Given the description of an element on the screen output the (x, y) to click on. 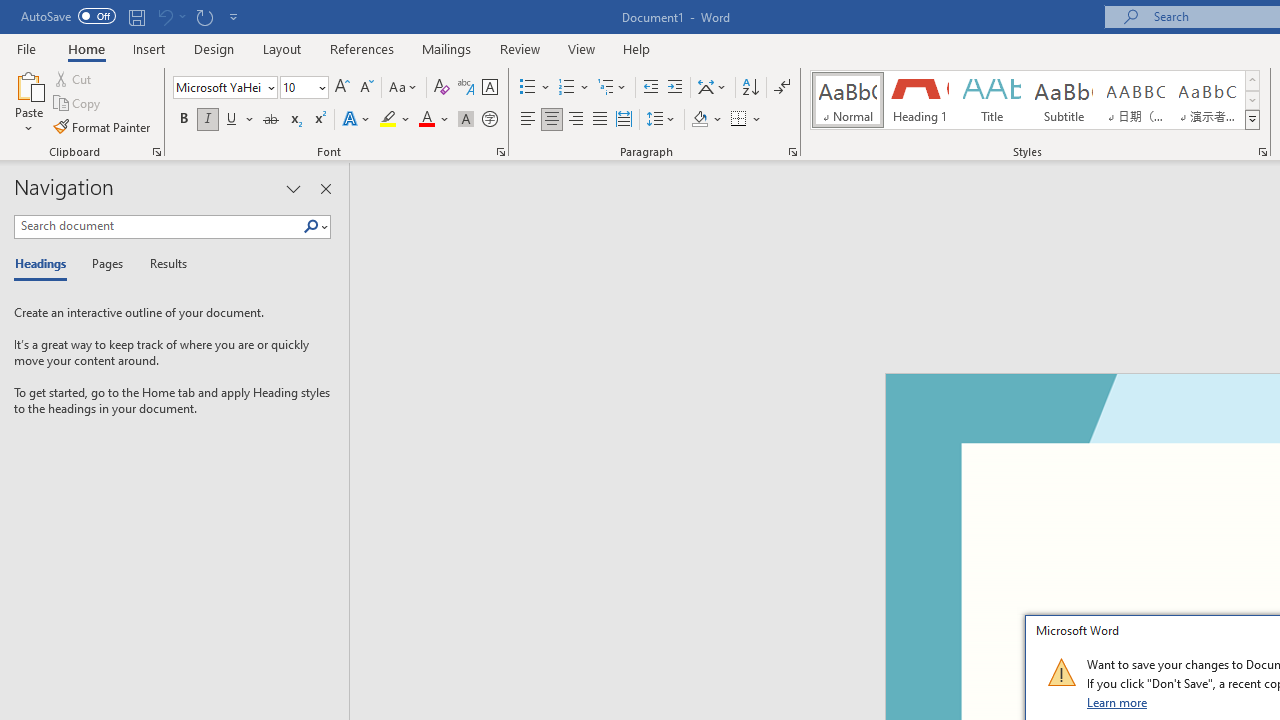
Mailings (447, 48)
Design (214, 48)
Italic (207, 119)
Repeat Doc Close (204, 15)
Shading (706, 119)
Learn more (1118, 702)
Increase Indent (675, 87)
Change Case (404, 87)
Headings (45, 264)
Shrink Font (365, 87)
Asian Layout (712, 87)
Clear Formatting (442, 87)
Align Left (527, 119)
Copy (78, 103)
